Given the description of an element on the screen output the (x, y) to click on. 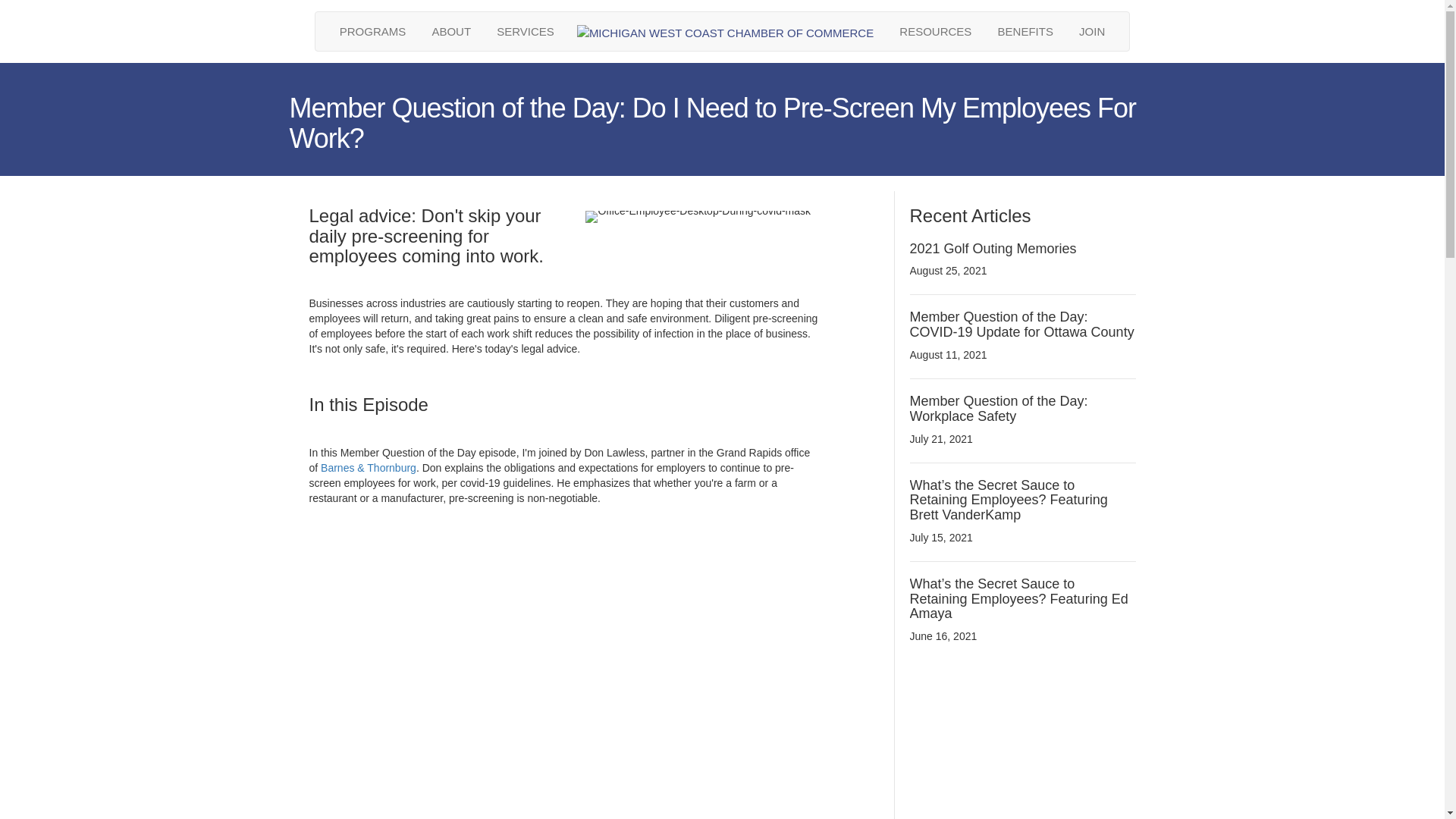
Member Question of the Day: Workplace Safety (998, 408)
PROGRAMS (373, 31)
2021 Golf Outing Memories (993, 248)
Office-Employee-Desktop-During-covid-mask (697, 216)
ABOUT (450, 31)
